Given the description of an element on the screen output the (x, y) to click on. 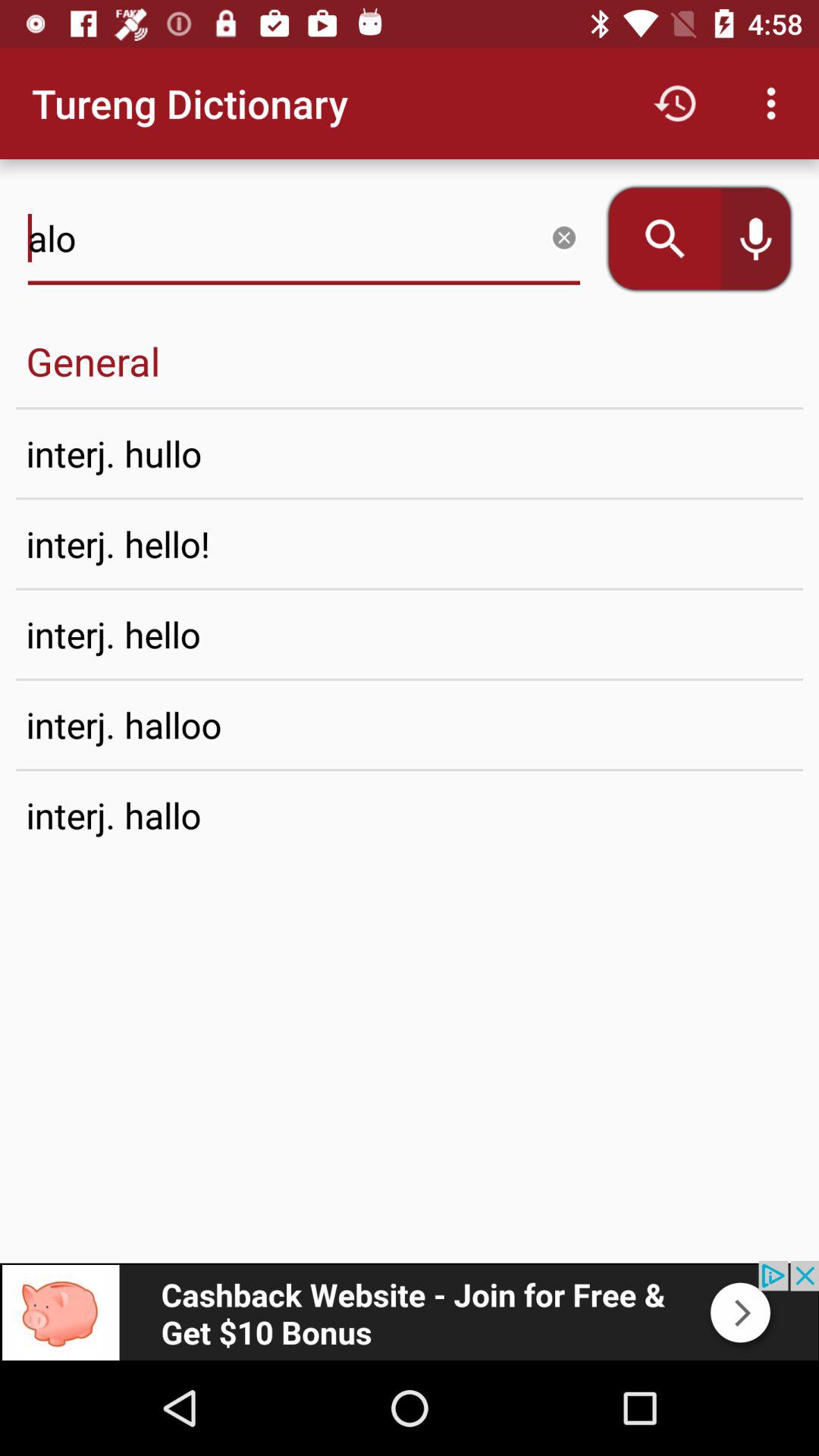
go to advertisement (409, 1310)
